Given the description of an element on the screen output the (x, y) to click on. 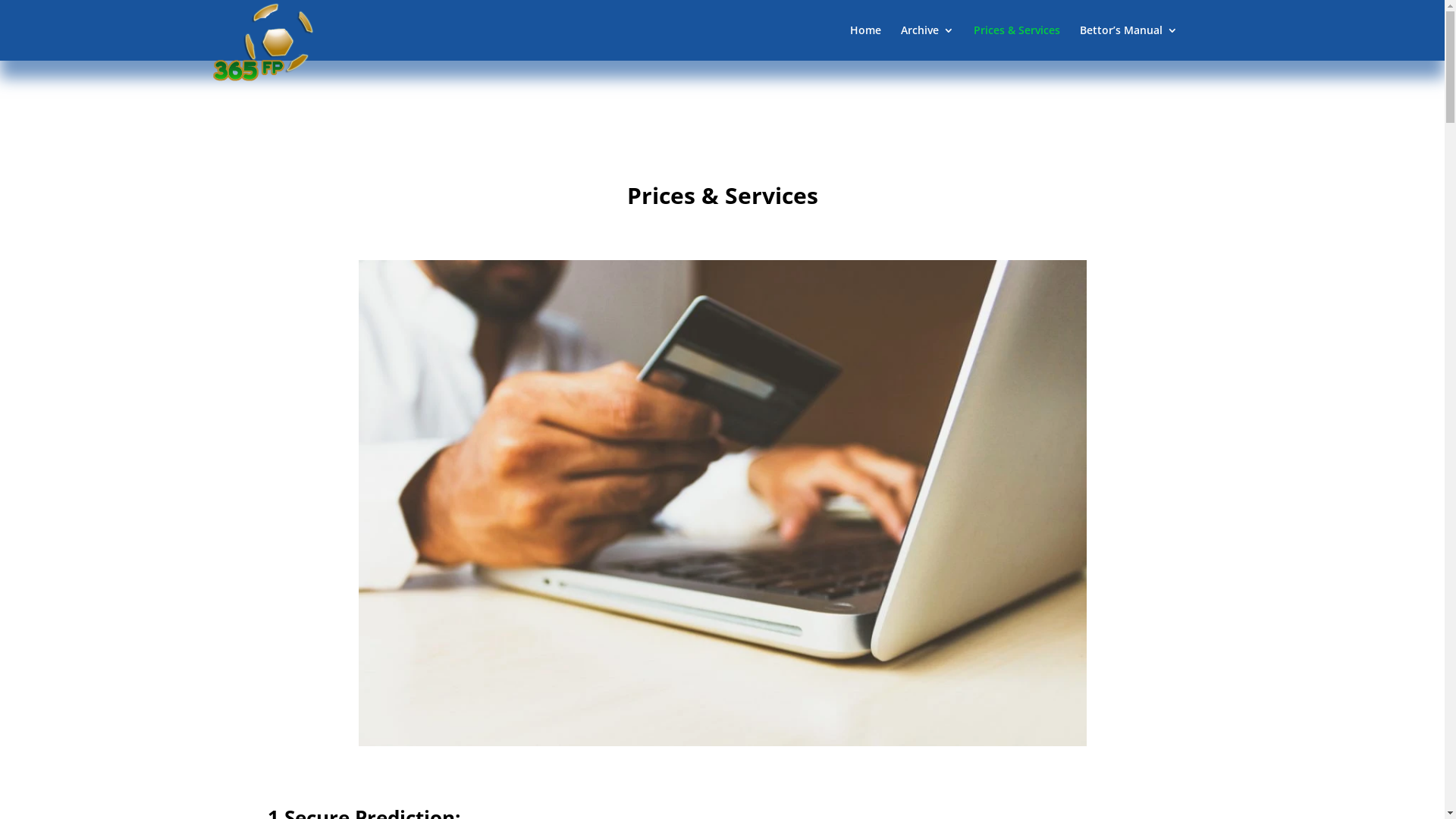
Prices_&_Services Element type: hover (721, 502)
Archive Element type: text (926, 42)
Home Element type: text (864, 42)
Prices & Services Element type: text (1016, 42)
